Given the description of an element on the screen output the (x, y) to click on. 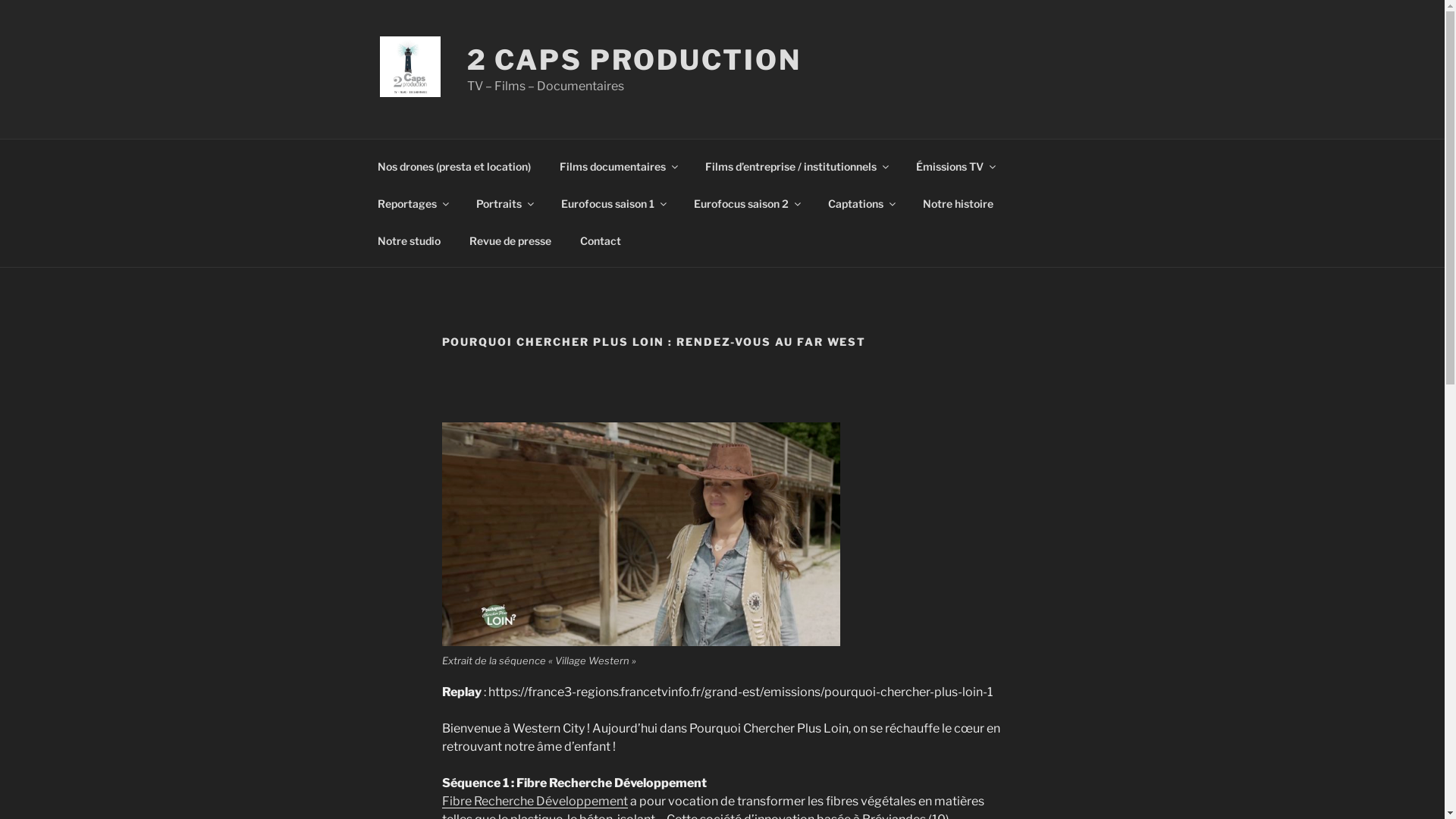
Eurofocus saison 2 Element type: text (746, 203)
Portraits Element type: text (503, 203)
Captations Element type: text (860, 203)
Aller au contenu principal Element type: text (0, 0)
Notre histoire Element type: text (958, 203)
Eurofocus saison 1 Element type: text (612, 203)
2 CAPS PRODUCTION Element type: text (634, 59)
Films documentaires Element type: text (617, 165)
Contact Element type: text (600, 239)
Revue de presse Element type: text (510, 239)
Nos drones (presta et location) Element type: text (453, 165)
Reportages Element type: text (412, 203)
Notre studio Element type: text (408, 239)
